Given the description of an element on the screen output the (x, y) to click on. 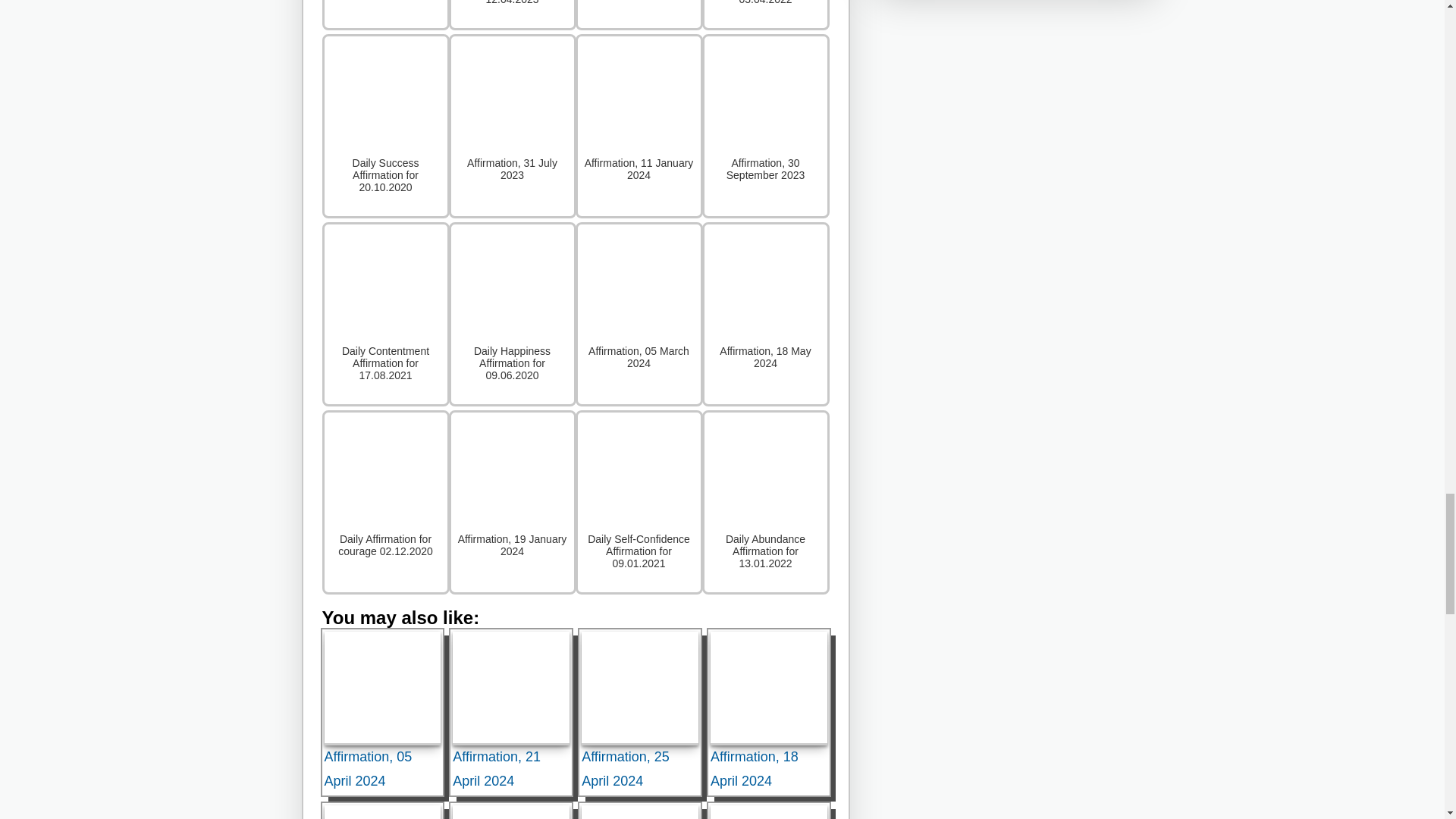
Affirmation, 21 April 2024 (510, 688)
Affirmation, 05 April 2024 (381, 688)
Affirmation, 22 April 2024 (381, 812)
Affirmation, 18 April 2024 (768, 688)
Affirmation, 25 April 2024 (640, 688)
Affirmation, 01 April 2024 (640, 812)
Affirmation, 04 April 2024 (510, 812)
Affirmation, 24 April 2024 (768, 812)
